Given the description of an element on the screen output the (x, y) to click on. 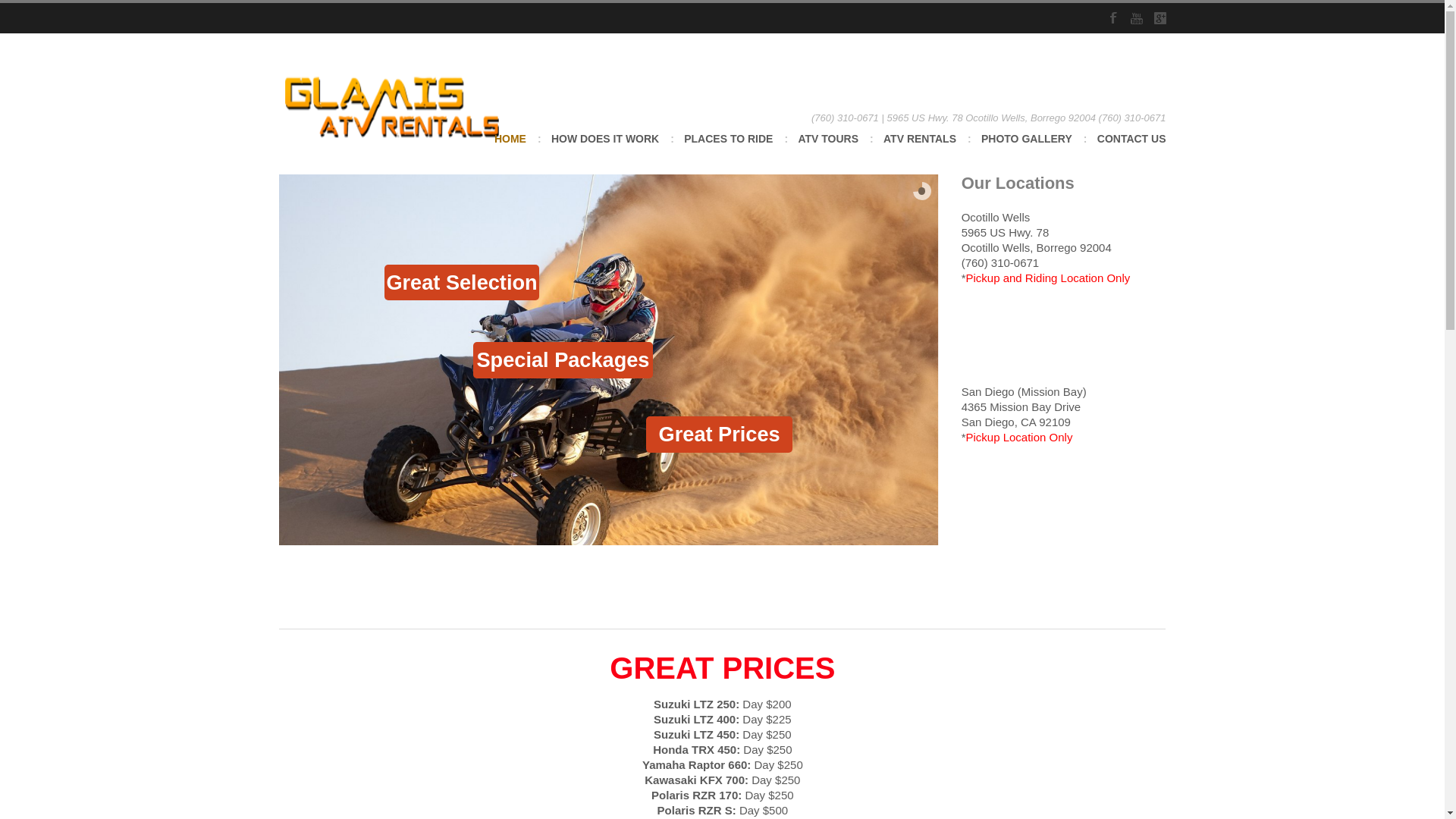
YouTube (1135, 18)
CONTACT US (1131, 149)
PLACES TO RIDE (728, 149)
PHOTO GALLERY (1026, 149)
HOW DOES IT WORK (605, 149)
ATV RENTALS (919, 149)
Facebook (1112, 18)
ATV TOURS (828, 149)
Google Plus (1160, 18)
